Given the description of an element on the screen output the (x, y) to click on. 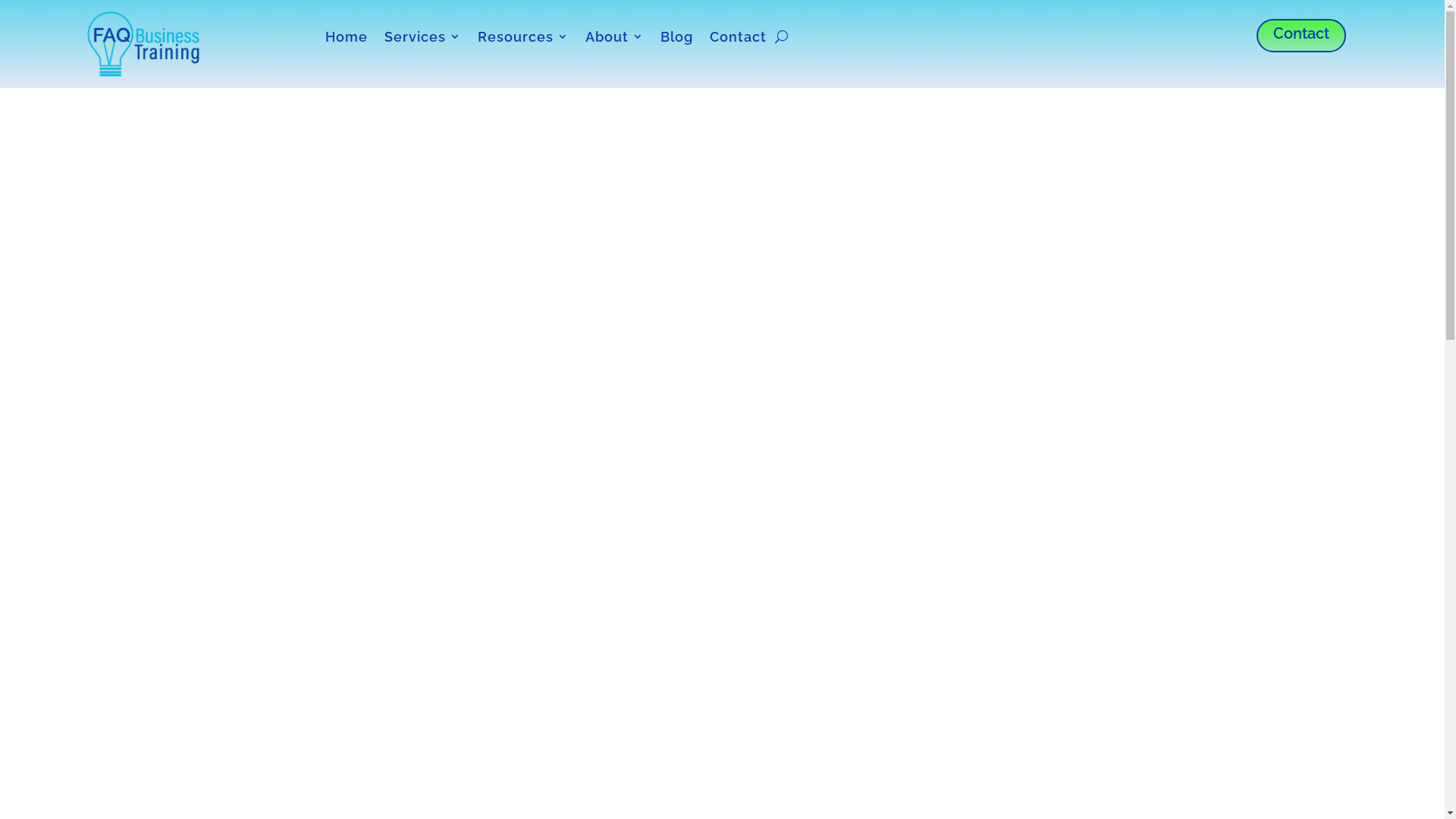
Services Element type: text (422, 39)
Resources Element type: text (522, 39)
Blog Element type: text (676, 39)
Contact Element type: text (1301, 35)
About Element type: text (614, 39)
Contact Element type: text (737, 39)
Home Element type: text (346, 39)
